Given the description of an element on the screen output the (x, y) to click on. 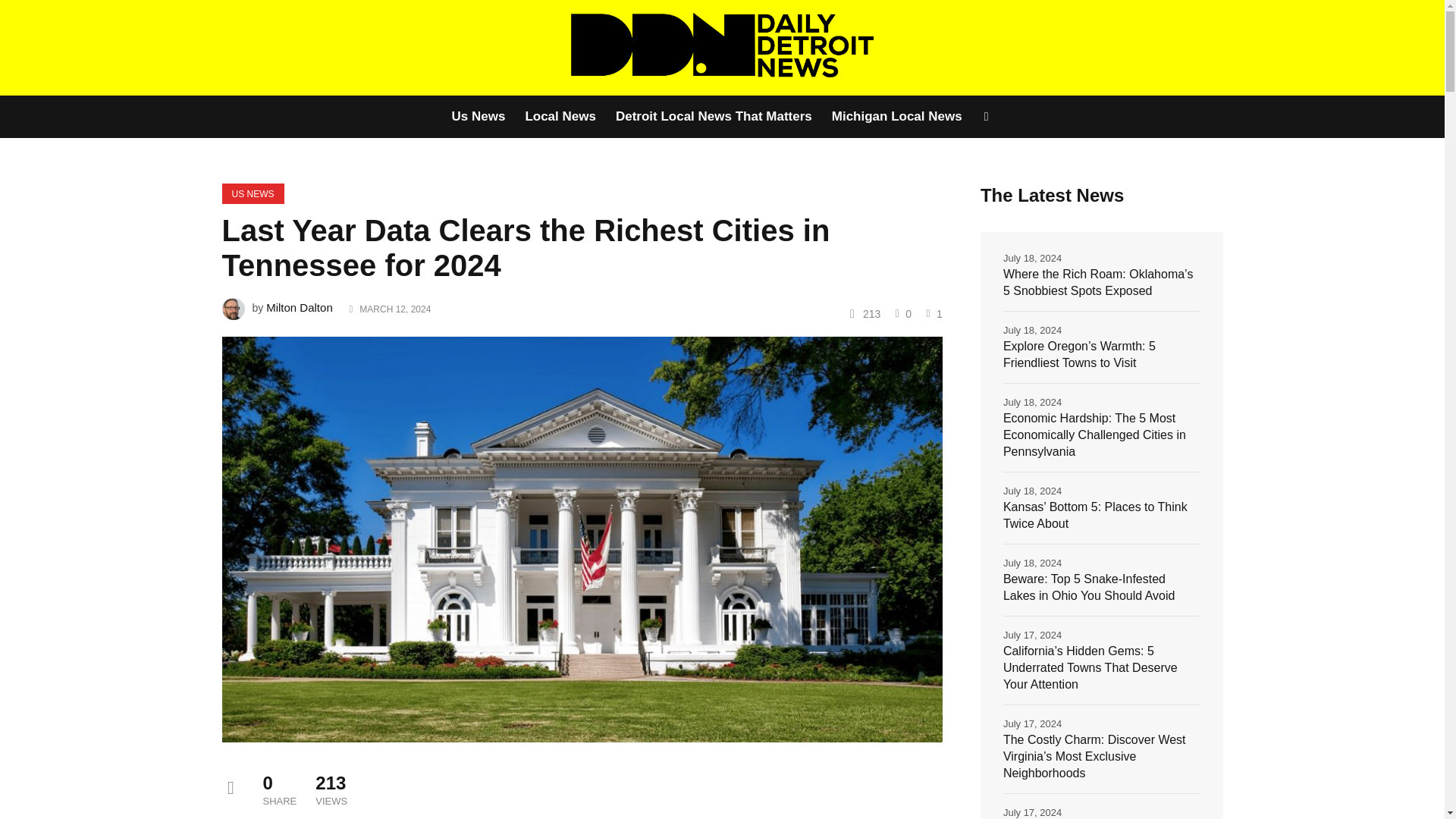
Us News (482, 116)
Advertisement (666, 798)
March 12, 2024 (394, 309)
Michigan Local News (897, 116)
US NEWS (252, 193)
Detroit Local News That Matters (713, 116)
Milton Dalton (299, 307)
Local News (560, 116)
1 (932, 313)
0 (901, 313)
Posts by Milton Dalton (299, 307)
